Given the description of an element on the screen output the (x, y) to click on. 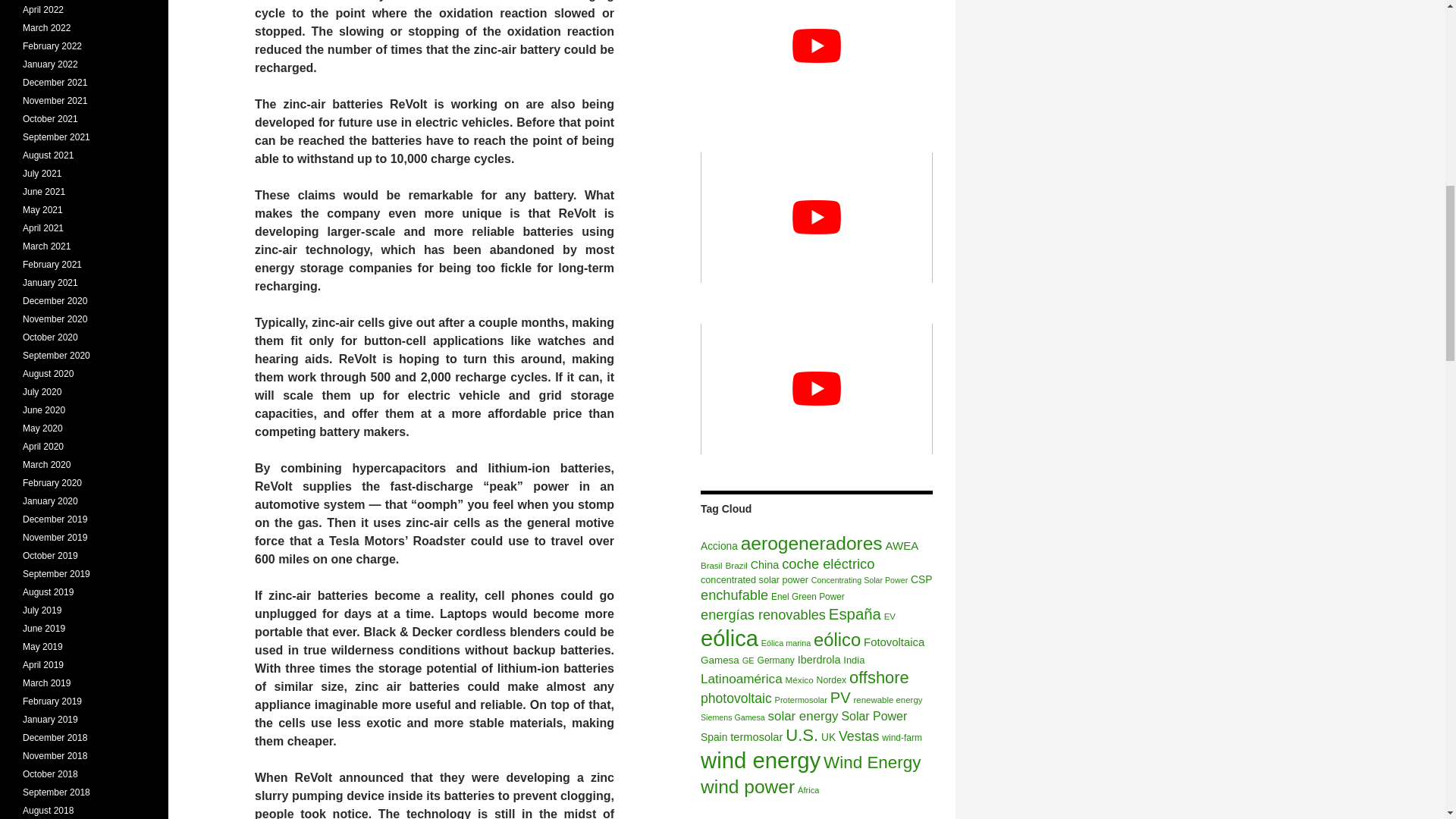
Brasil (711, 565)
Acciona (719, 546)
AWEA (901, 545)
aerogeneradores (811, 543)
